Given the description of an element on the screen output the (x, y) to click on. 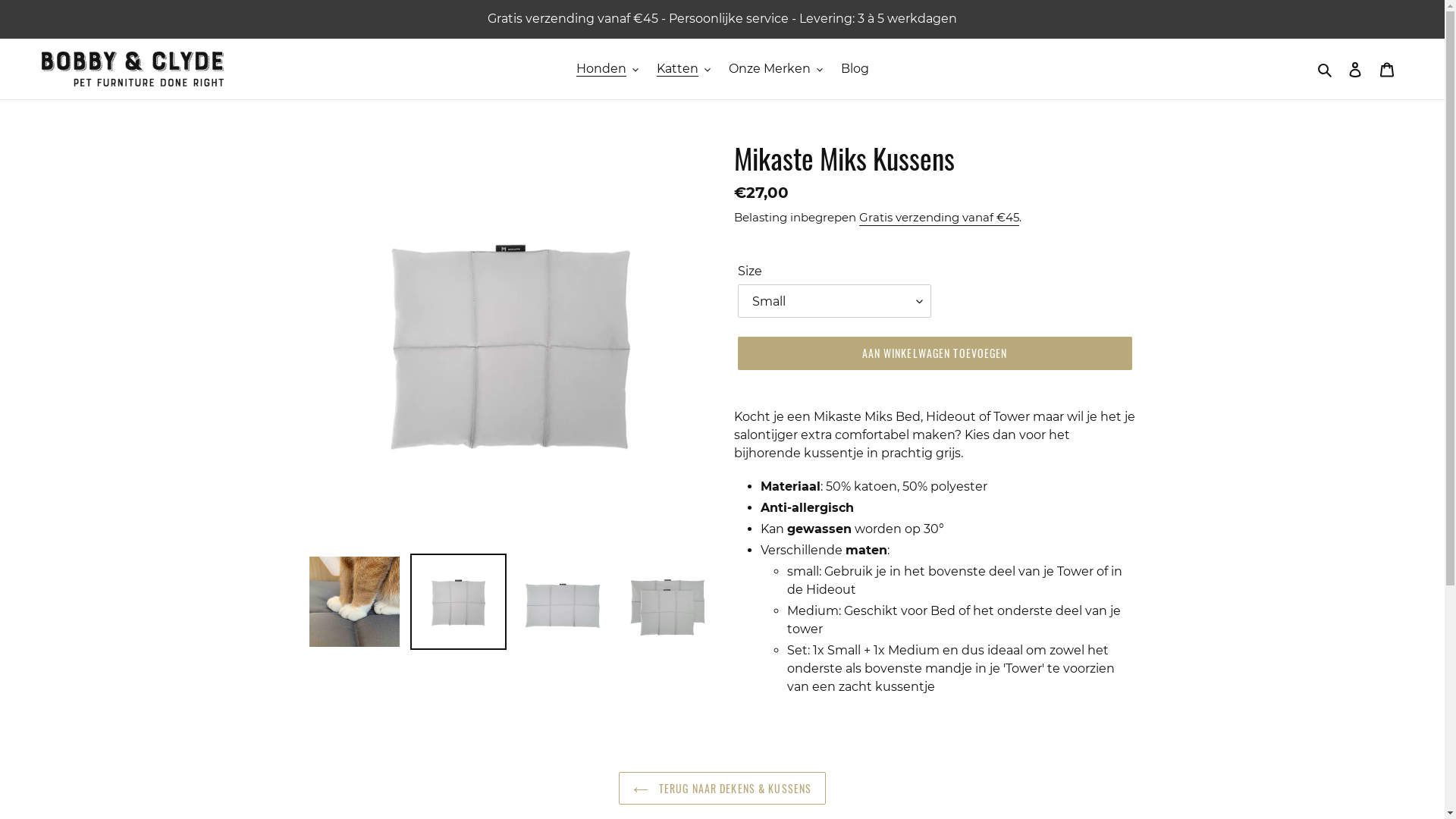
Winkelwagen Element type: text (1386, 68)
Blog Element type: text (853, 68)
AAN WINKELWAGEN TOEVOEGEN Element type: text (934, 353)
Onze Merken Element type: text (774, 68)
TERUG NAAR DEKENS & KUSSENS Element type: text (721, 787)
Aanmelden Element type: text (1355, 68)
Zoeken Element type: text (1325, 68)
Katten Element type: text (683, 68)
Honden Element type: text (607, 68)
